Given the description of an element on the screen output the (x, y) to click on. 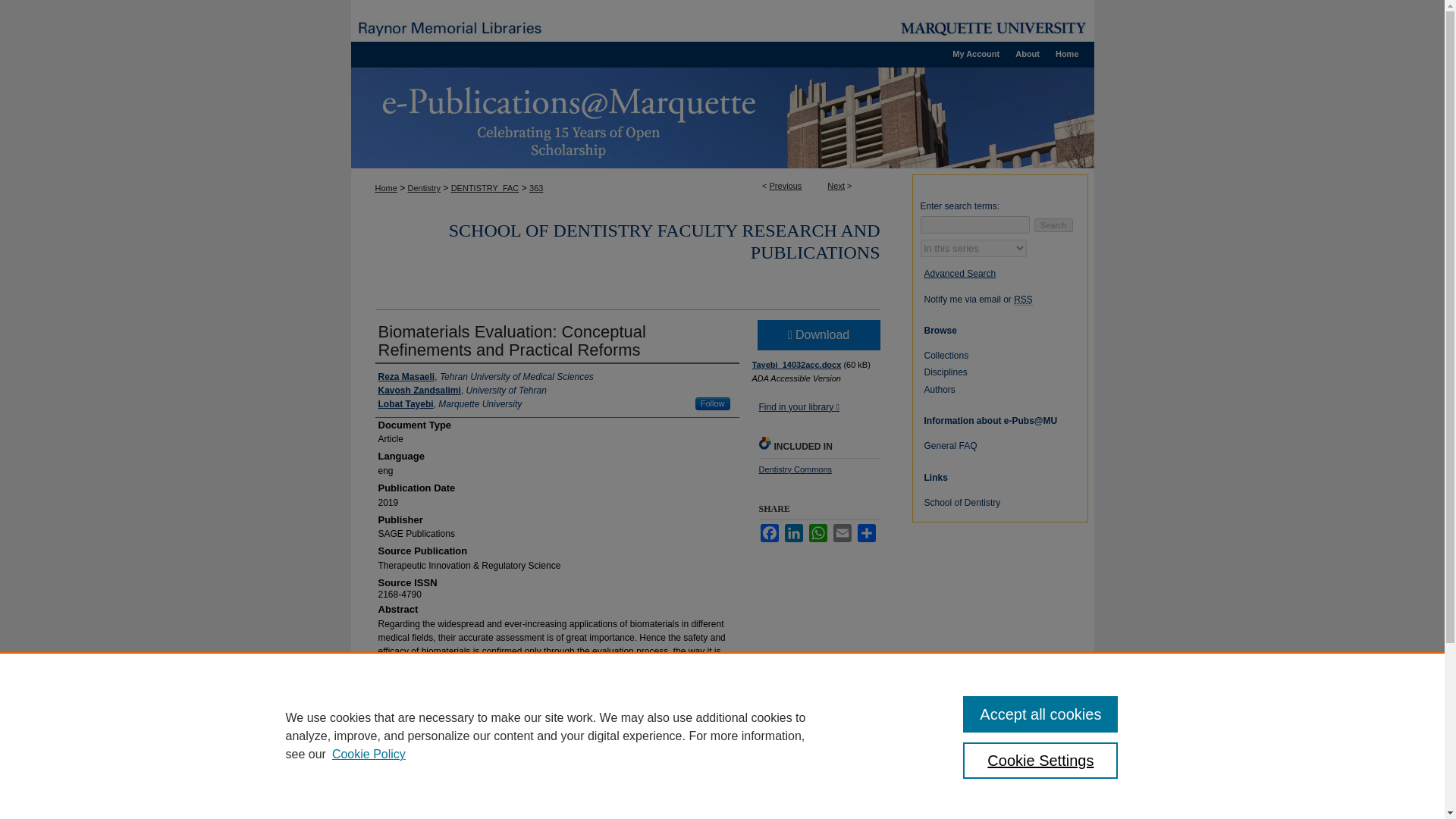
Search (1053, 224)
Really Simple Syndication (1022, 299)
Kavosh Zandsalimi, University of Tehran (461, 390)
Search (1053, 224)
Home (1067, 53)
Share (866, 533)
Follow Lobat Tayebi (712, 403)
Reza Masaeli, Tehran University of Medical Sciences (484, 377)
SCHOOL OF DENTISTRY FACULTY RESEARCH AND PUBLICATIONS (664, 241)
Previous (786, 185)
Download (818, 335)
Dentistry Commons (794, 469)
WhatsApp (817, 533)
Lobat Tayebi, Marquette University (449, 404)
363 (536, 187)
